Given the description of an element on the screen output the (x, y) to click on. 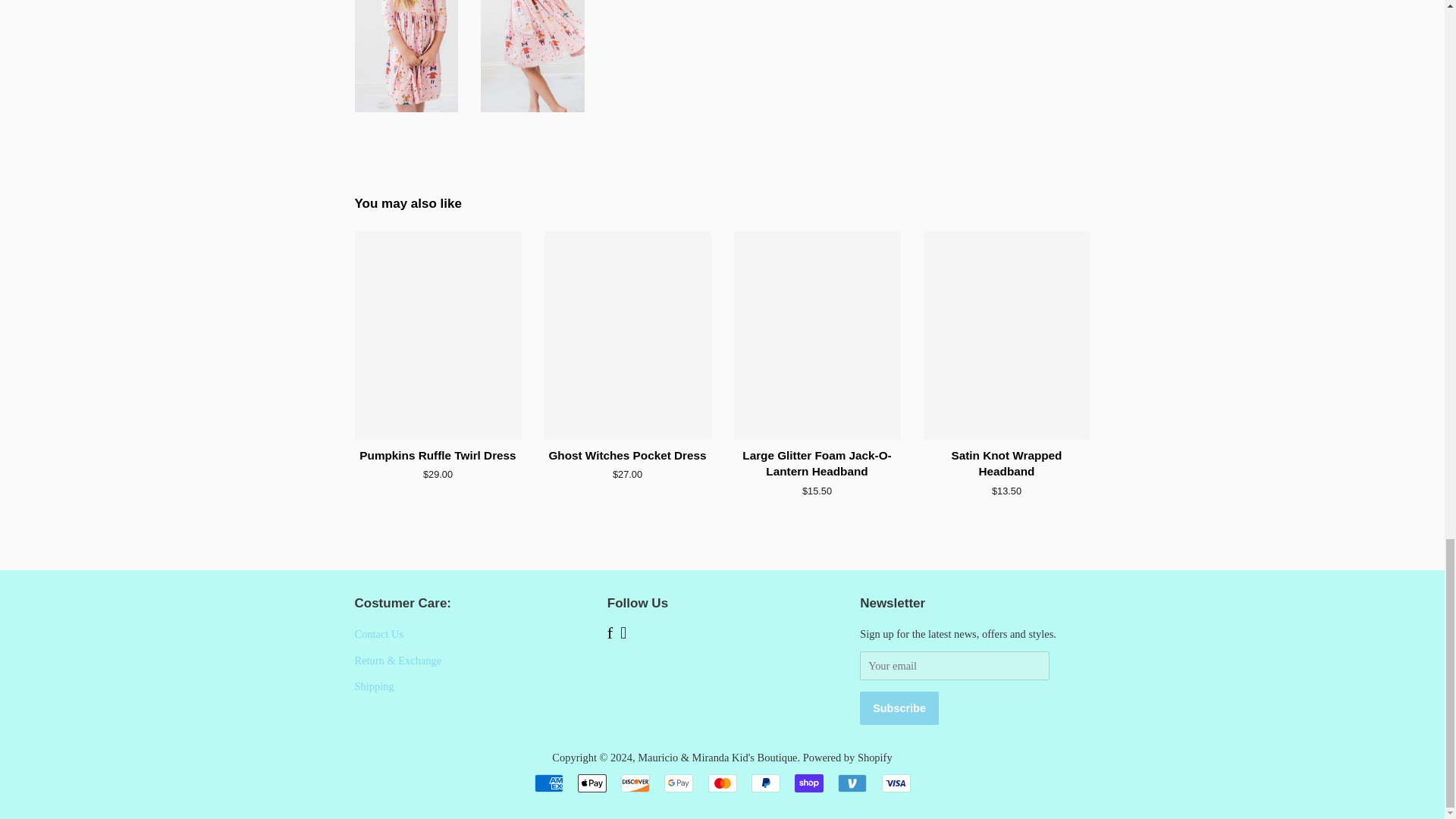
Apple Pay (592, 782)
Mastercard (721, 782)
Shop Pay (809, 782)
CONTACT US (379, 633)
Venmo (852, 782)
American Express (548, 782)
Discover (635, 782)
Google Pay (678, 782)
Subscribe (899, 707)
Visa (895, 782)
